Given the description of an element on the screen output the (x, y) to click on. 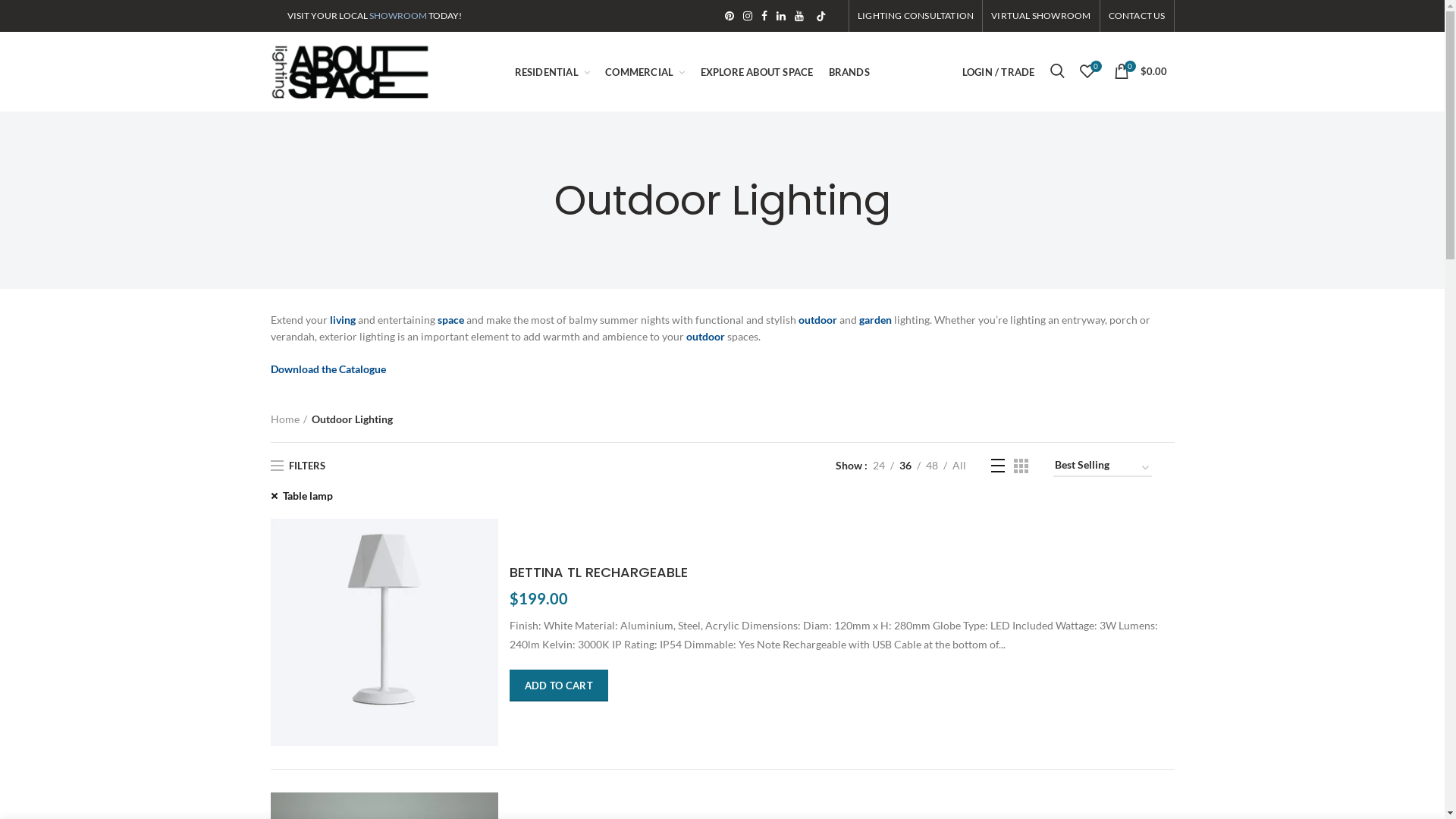
CONTACT US Element type: text (1136, 15)
Home Element type: text (287, 418)
Instagram Element type: text (747, 15)
Pinterest Element type: text (729, 15)
All Element type: text (958, 465)
LinkedIn Element type: text (780, 15)
48 Element type: text (931, 465)
outdoor Element type: text (704, 335)
BETTINA TL RECHARGEABLE Element type: text (841, 571)
VIRTUAL SHOWROOM Element type: text (1040, 15)
living Element type: text (341, 319)
LIGHTING CONSULTATION Element type: text (915, 15)
space Element type: text (449, 319)
0 Element type: text (1087, 71)
RESIDENTIAL Element type: text (552, 71)
garden Element type: text (874, 319)
outdoor Element type: text (816, 319)
BRANDS Element type: text (848, 71)
0
$0.00 Element type: text (1139, 71)
Table lamp Element type: text (300, 495)
LOGIN / TRADE Element type: text (998, 71)
ADD TO CART Element type: text (558, 685)
COMMERCIAL Element type: text (644, 71)
Facebook Element type: text (763, 15)
SHOWROOM Element type: text (397, 15)
24 Element type: text (878, 465)
36 Element type: text (904, 465)
EXPLORE ABOUT SPACE Element type: text (757, 71)
Download the Catalogue Element type: text (327, 368)
